Given the description of an element on the screen output the (x, y) to click on. 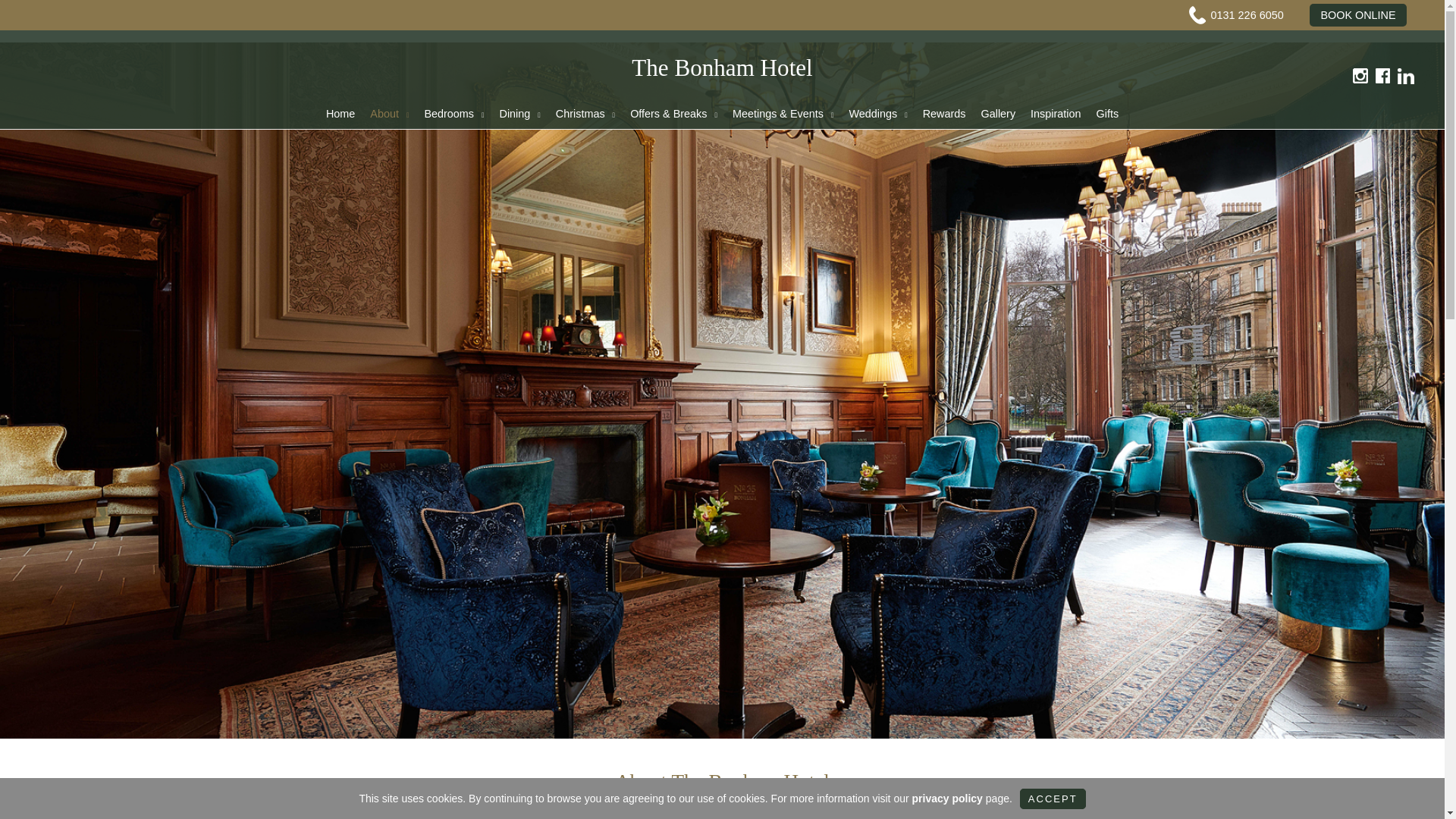
Home (340, 113)
0131 226 6050 (1246, 14)
About (389, 113)
The Bonham Hotel (721, 67)
Christmas (585, 113)
BOOK ONLINE (1357, 14)
Dining (520, 113)
Bedrooms (454, 113)
